Given the description of an element on the screen output the (x, y) to click on. 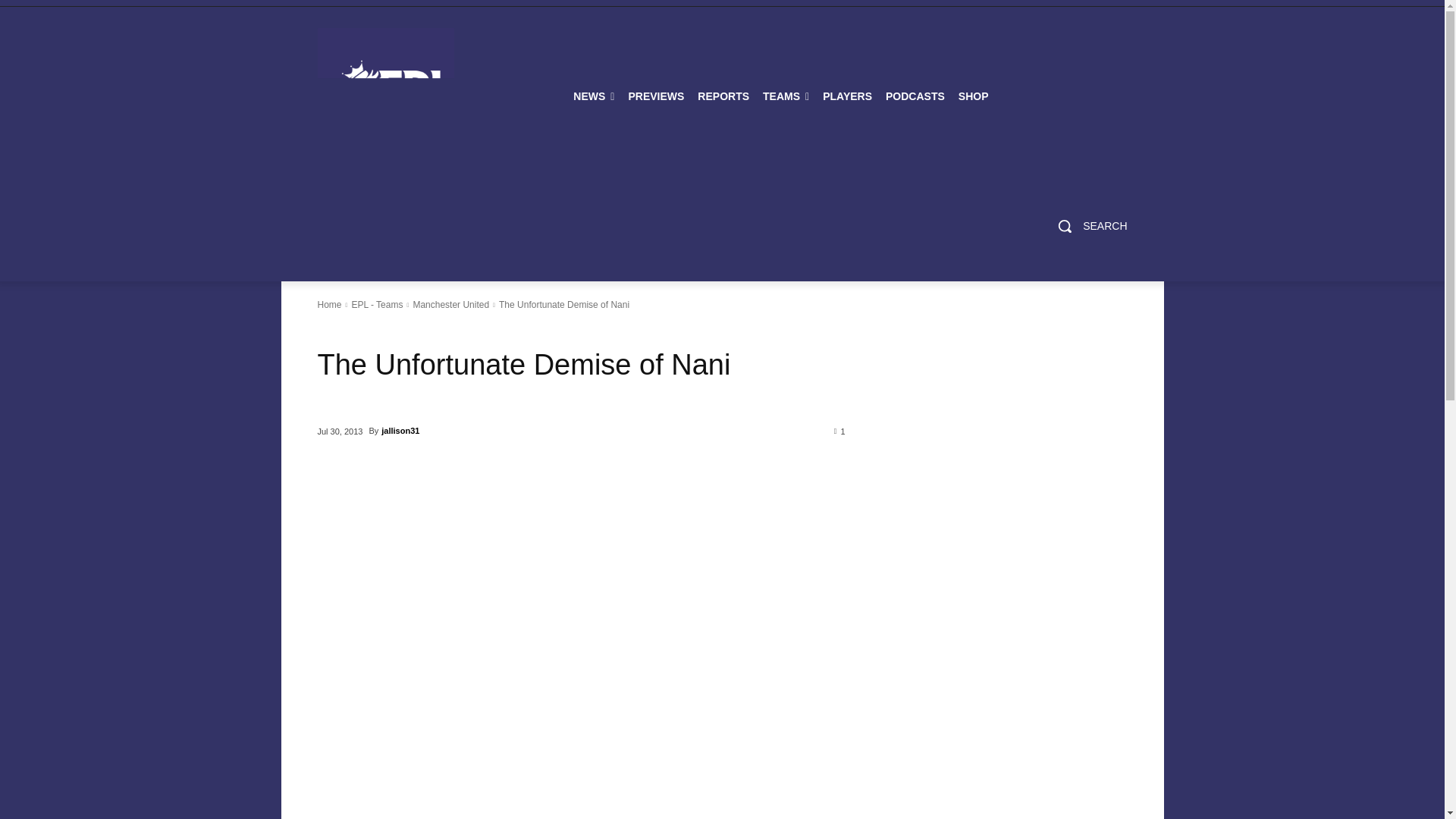
jallison31 (400, 430)
EPL - Teams (376, 304)
TEAMS (785, 95)
EPL Index Player Profiles (847, 95)
PREVIEWS (655, 95)
EPL Team Analysis (785, 95)
EPL Index (384, 95)
NEWS (593, 95)
PODCASTS (915, 95)
1 (839, 429)
SHOP (973, 95)
EPL Match Previews (655, 95)
View all posts in Manchester United (450, 304)
SEARCH (1086, 226)
Home (328, 304)
